Given the description of an element on the screen output the (x, y) to click on. 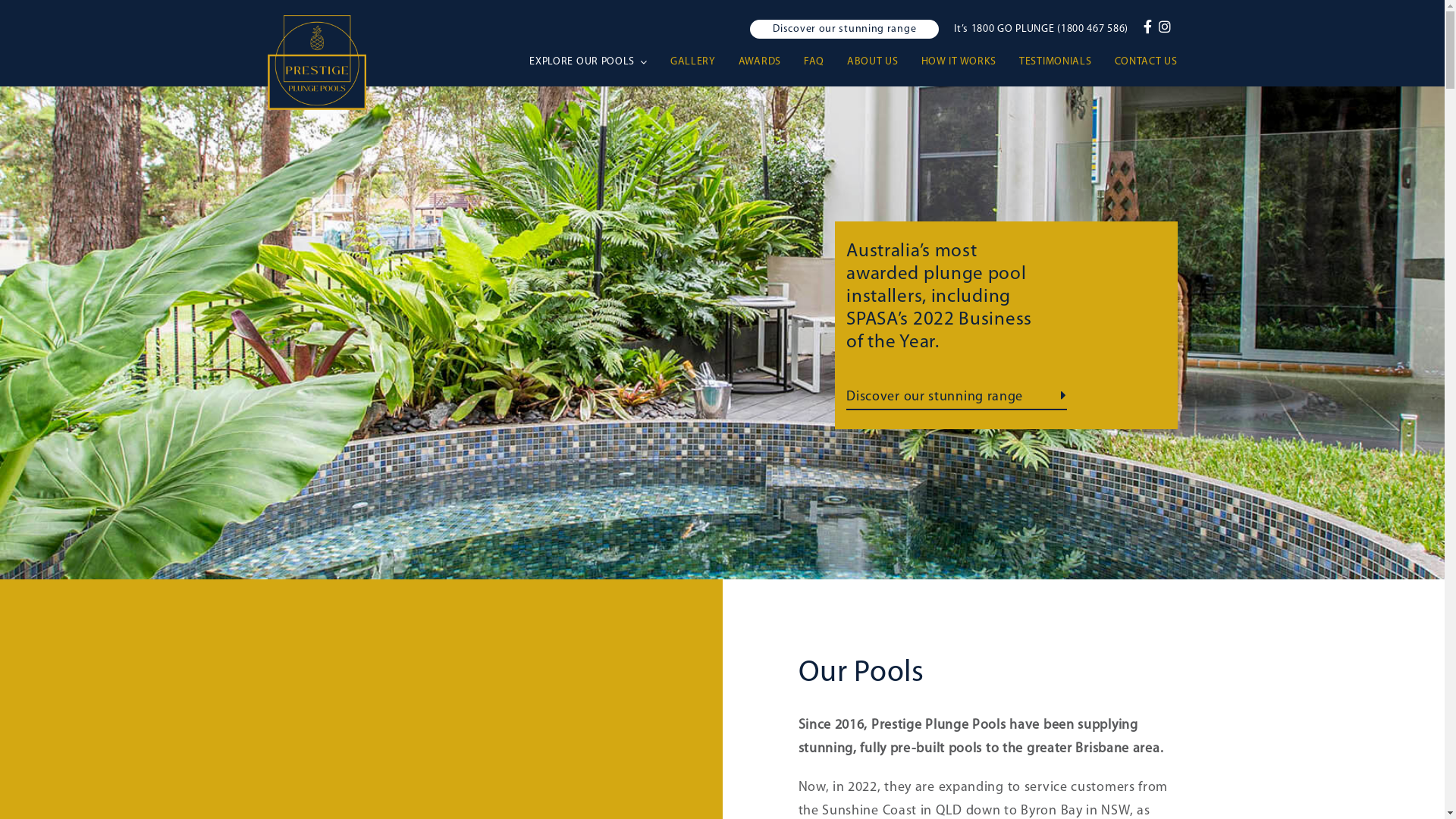
AWARDS Element type: text (770, 62)
Discover our stunning range Element type: text (843, 28)
EXPLORE OUR POOLS Element type: text (599, 62)
Discover our stunning range Element type: text (956, 397)
GALLERY Element type: text (704, 62)
FAQ Element type: text (825, 62)
TESTIMONIALS Element type: text (1066, 62)
Let's chat! Element type: text (510, 663)
CONTACT US Element type: text (1145, 62)
ABOUT US Element type: text (884, 62)
HOW IT WORKS Element type: text (970, 62)
1800 467 586 Element type: text (1092, 28)
